Given the description of an element on the screen output the (x, y) to click on. 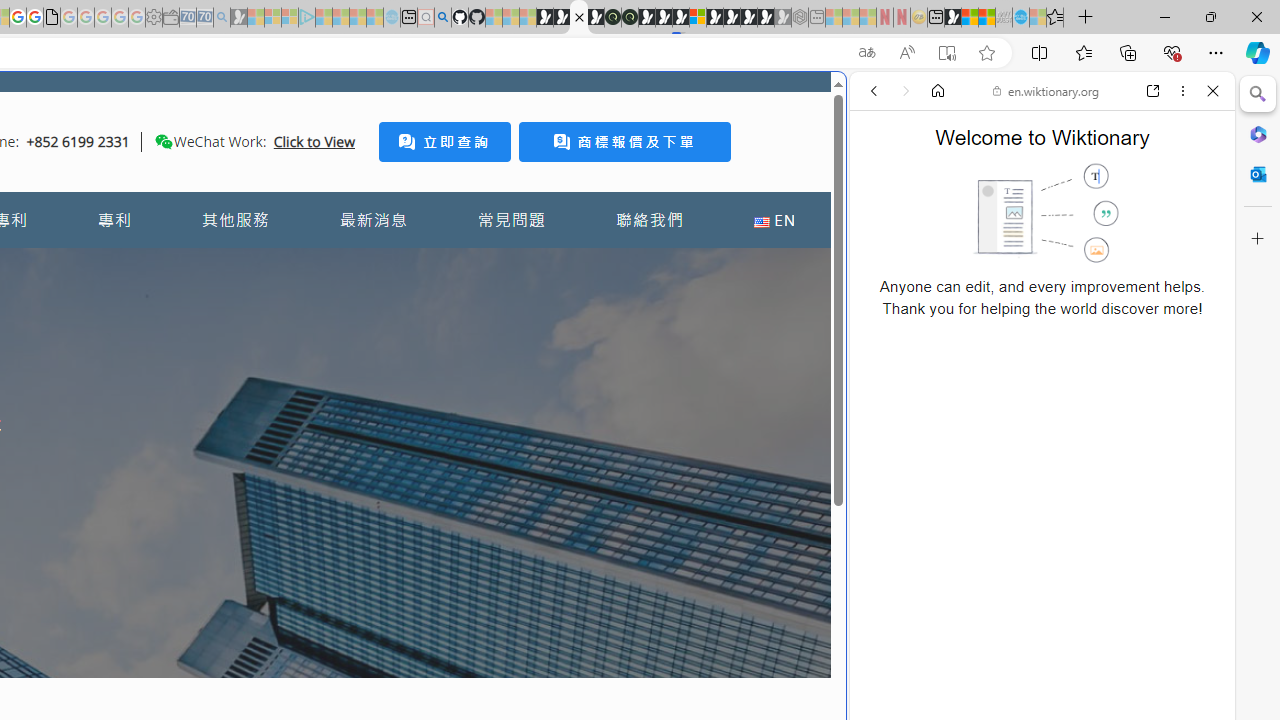
Search Filter, Search Tools (1093, 228)
Web scope (882, 180)
Cheap Car Rentals - Save70.com - Sleeping (204, 17)
Class: desktop (163, 141)
Services - Maintenance | Sky Blue Bikes - Sky Blue Bikes (1020, 17)
Global web icon (888, 669)
Search Filter, VIDEOS (1006, 228)
Sign in to your account (697, 17)
Close Customize pane (1258, 239)
Navy Quest (1003, 17)
Settings - Sleeping (153, 17)
